Given the description of an element on the screen output the (x, y) to click on. 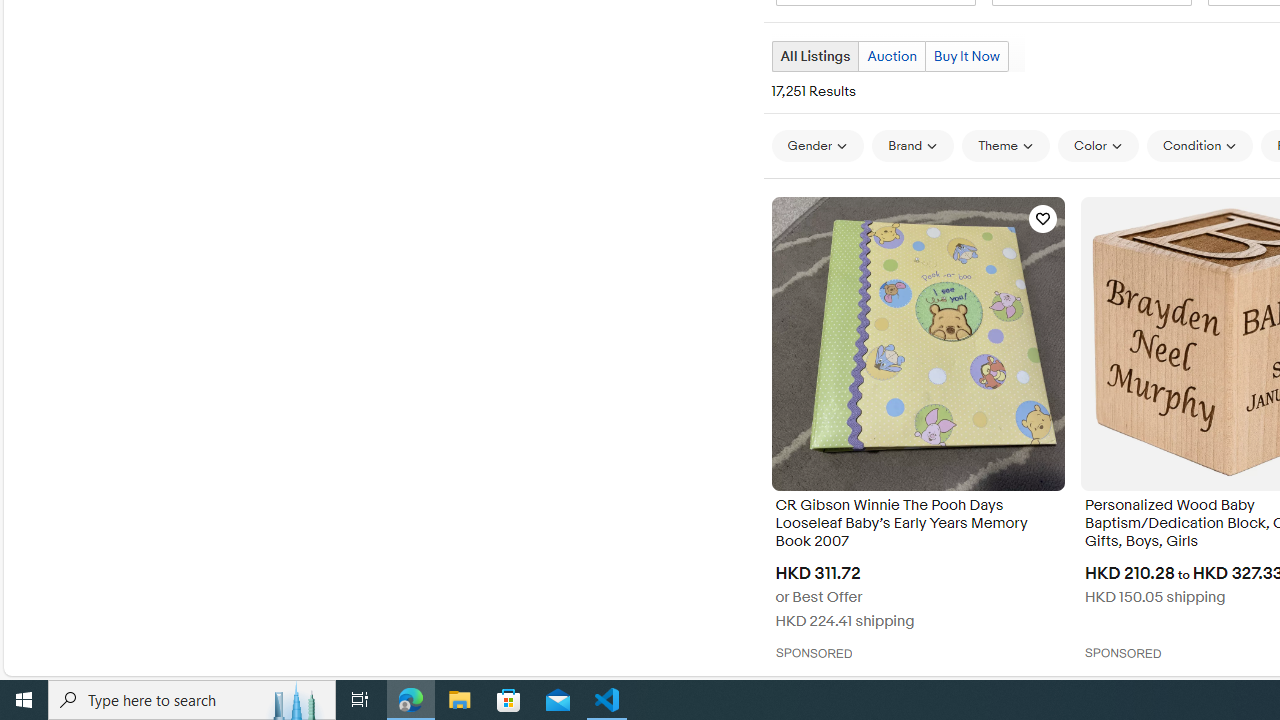
Gender (817, 145)
Auction (891, 56)
Color (1098, 145)
Theme (1006, 146)
Brand (912, 146)
Color (1098, 146)
Auction (891, 56)
Condition (1199, 145)
Gender (817, 146)
All Listings (814, 56)
Theme (1006, 145)
Brand (912, 145)
